Given the description of an element on the screen output the (x, y) to click on. 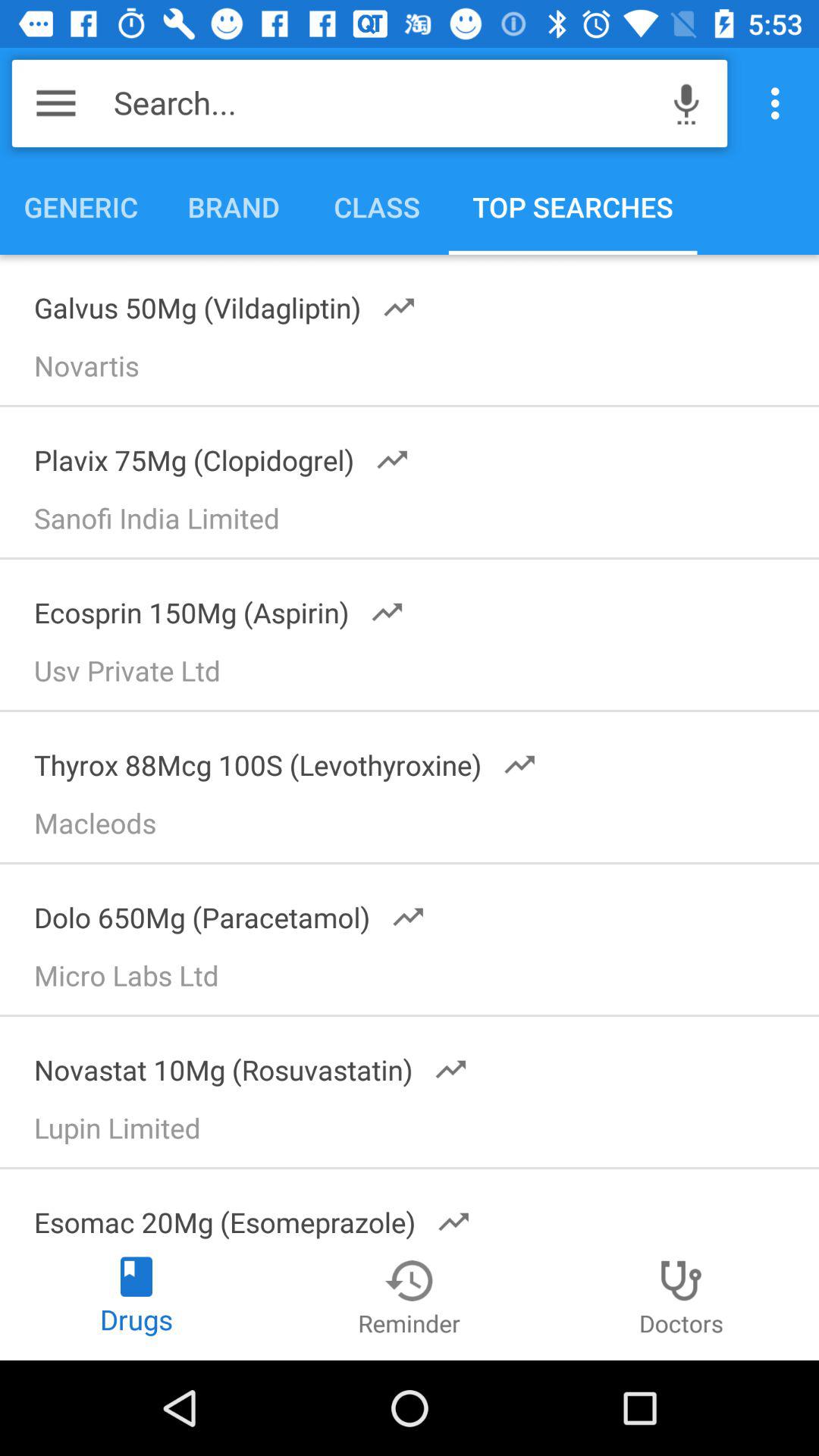
flip to the plavix 75mg (clopidogrel) icon (212, 455)
